Given the description of an element on the screen output the (x, y) to click on. 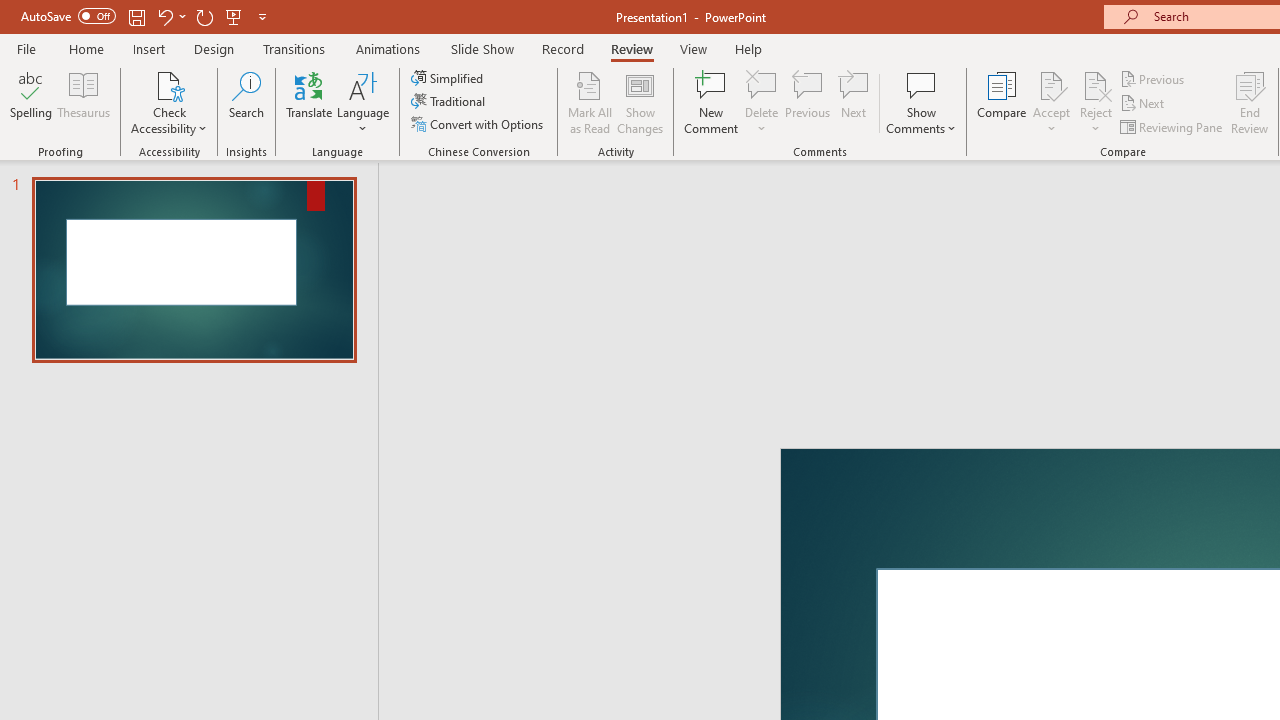
Previous (1153, 78)
Delete (762, 102)
Language (363, 102)
Show Changes (639, 102)
Accept Change (1051, 84)
Reject Change (1096, 84)
Spelling... (31, 102)
